Given the description of an element on the screen output the (x, y) to click on. 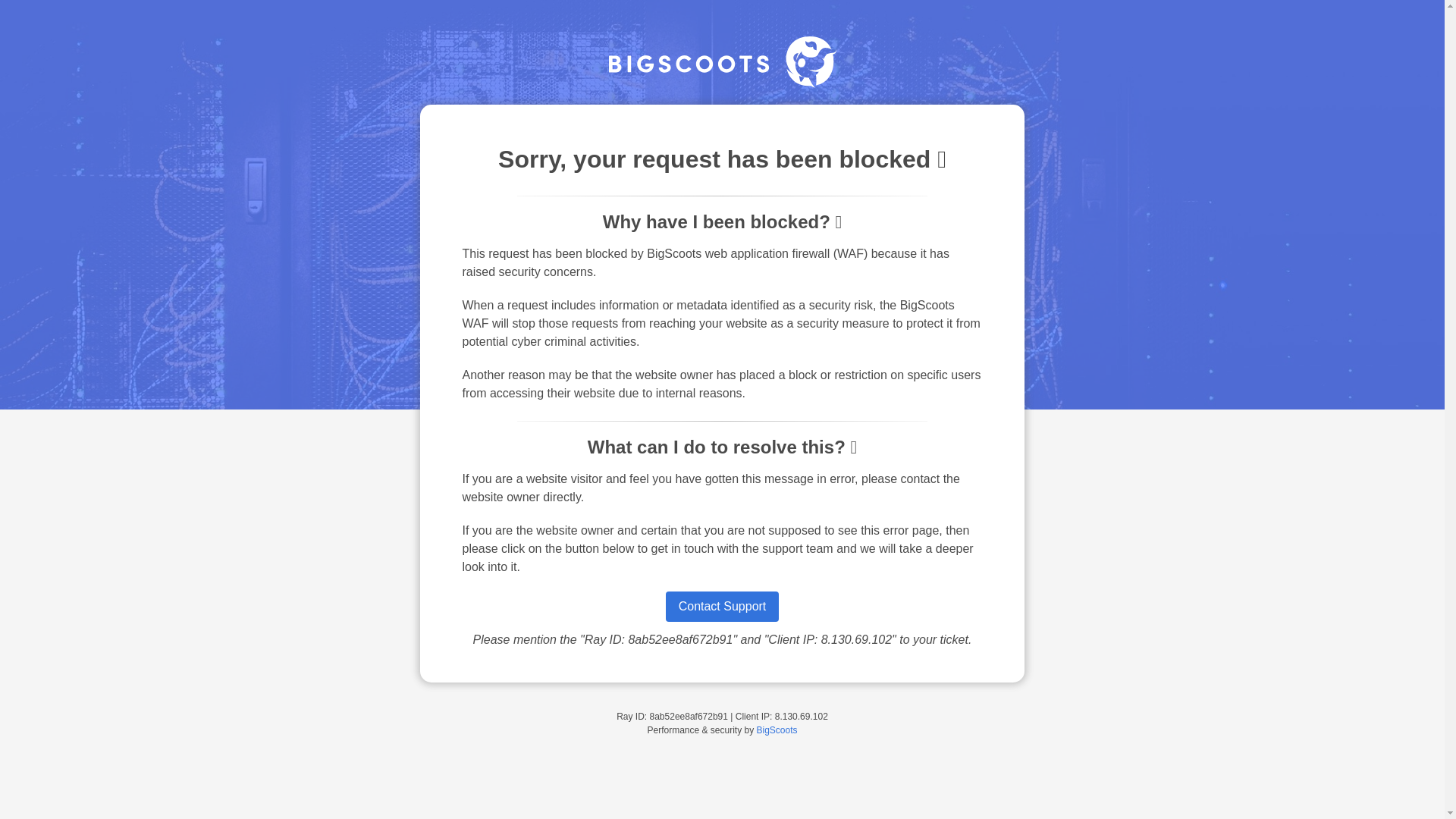
BigScoots (777, 729)
Contact Support (721, 606)
